Given the description of an element on the screen output the (x, y) to click on. 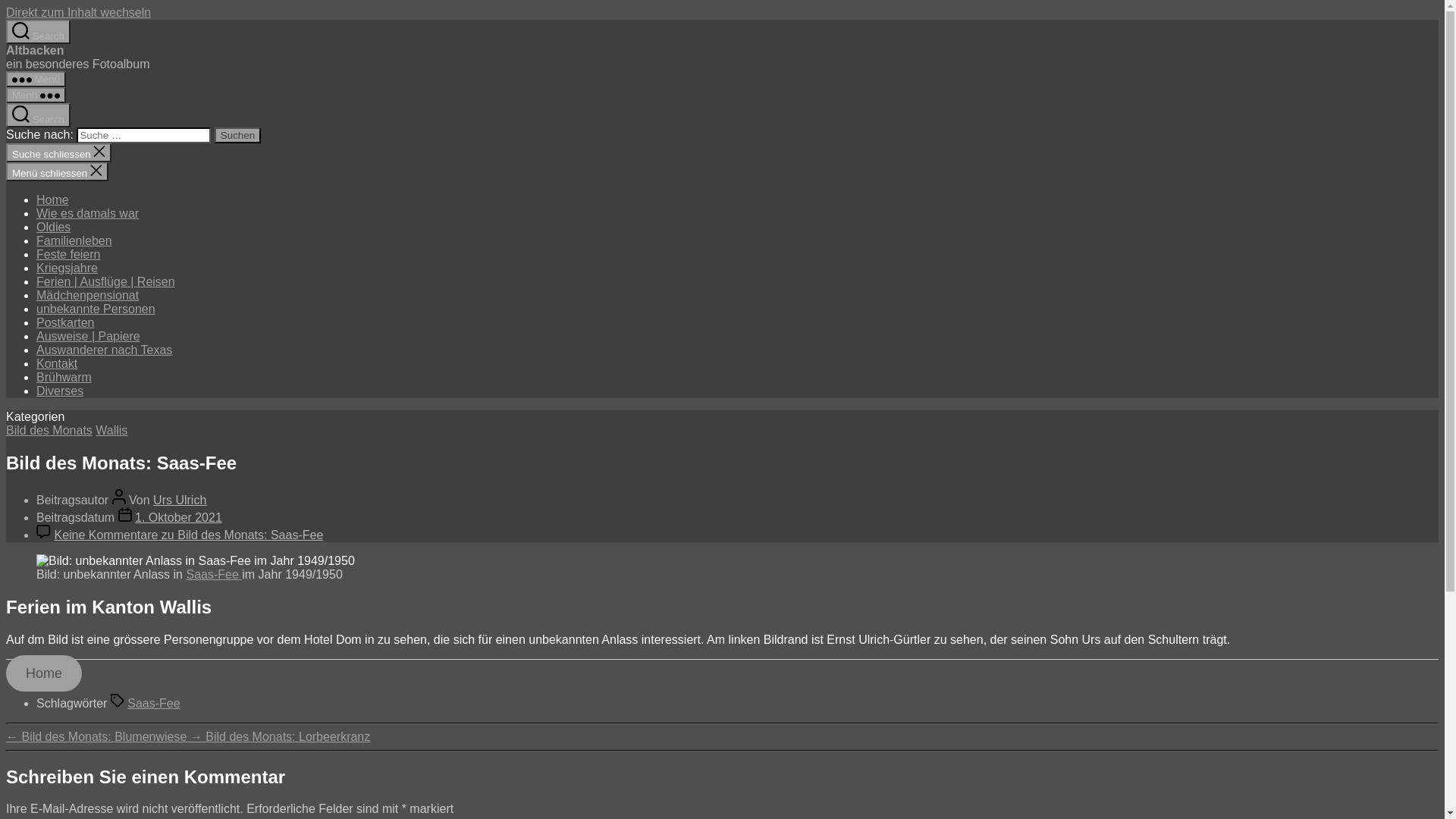
Wie es damals war Element type: text (87, 213)
Oldies Element type: text (53, 226)
Saas-Fee Element type: text (153, 702)
Auswanderer nach Texas Element type: text (104, 349)
Familienleben Element type: text (74, 240)
Kriegsjahre Element type: text (66, 267)
Wallis Element type: text (111, 429)
Ausweise | Papiere Element type: text (88, 335)
Urs Ulrich Element type: text (179, 499)
1. Oktober 2021 Element type: text (178, 517)
Direkt zum Inhalt wechseln Element type: text (78, 12)
Home Element type: text (52, 199)
Home Element type: text (43, 673)
Diverses Element type: text (59, 390)
Bild des Monats: Saas-Fee 1 Element type: hover (195, 560)
unbekannte Personen Element type: text (95, 308)
Suchen Element type: text (237, 135)
Keine Kommentare zu Bild des Monats: Saas-Fee Element type: text (188, 534)
Feste feiern Element type: text (68, 253)
Search Element type: text (38, 31)
Postkarten Element type: text (65, 322)
Altbacken Element type: text (34, 49)
Kontakt Element type: text (56, 363)
Suche schliessen Element type: text (58, 152)
Bild des Monats Element type: text (49, 429)
Search Element type: text (38, 115)
Saas-Fee Element type: text (213, 573)
